Given the description of an element on the screen output the (x, y) to click on. 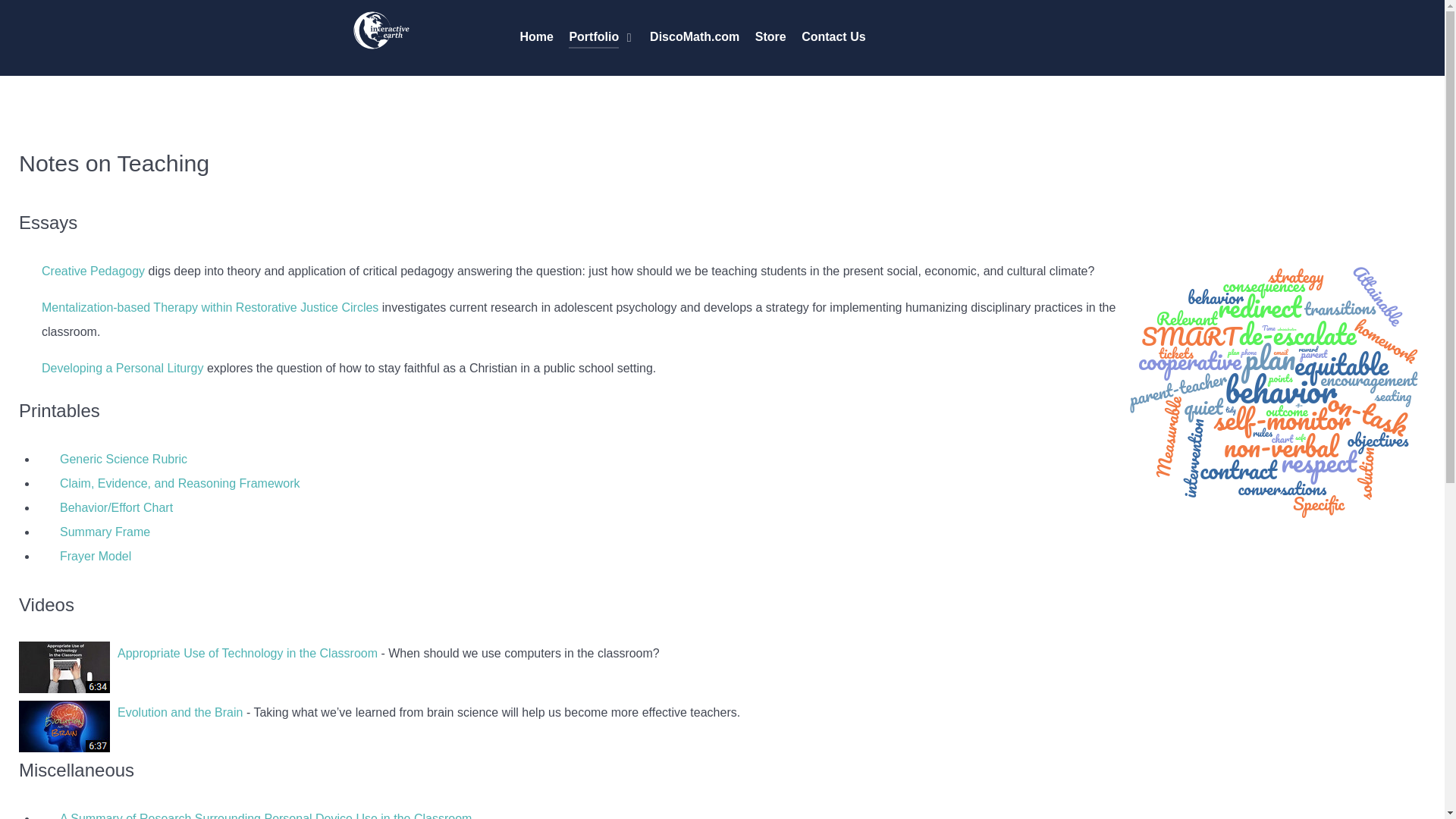
Developing a Personal Liturgy (122, 367)
Generic Science Rubric (123, 459)
Creative Pedagogy (93, 270)
Appropriate Use of Technology in the Classroom (247, 653)
Frayer Model (95, 555)
DiscoMath.com (694, 38)
Summary Frame (104, 531)
Home (536, 38)
Contact Us (833, 38)
